Given the description of an element on the screen output the (x, y) to click on. 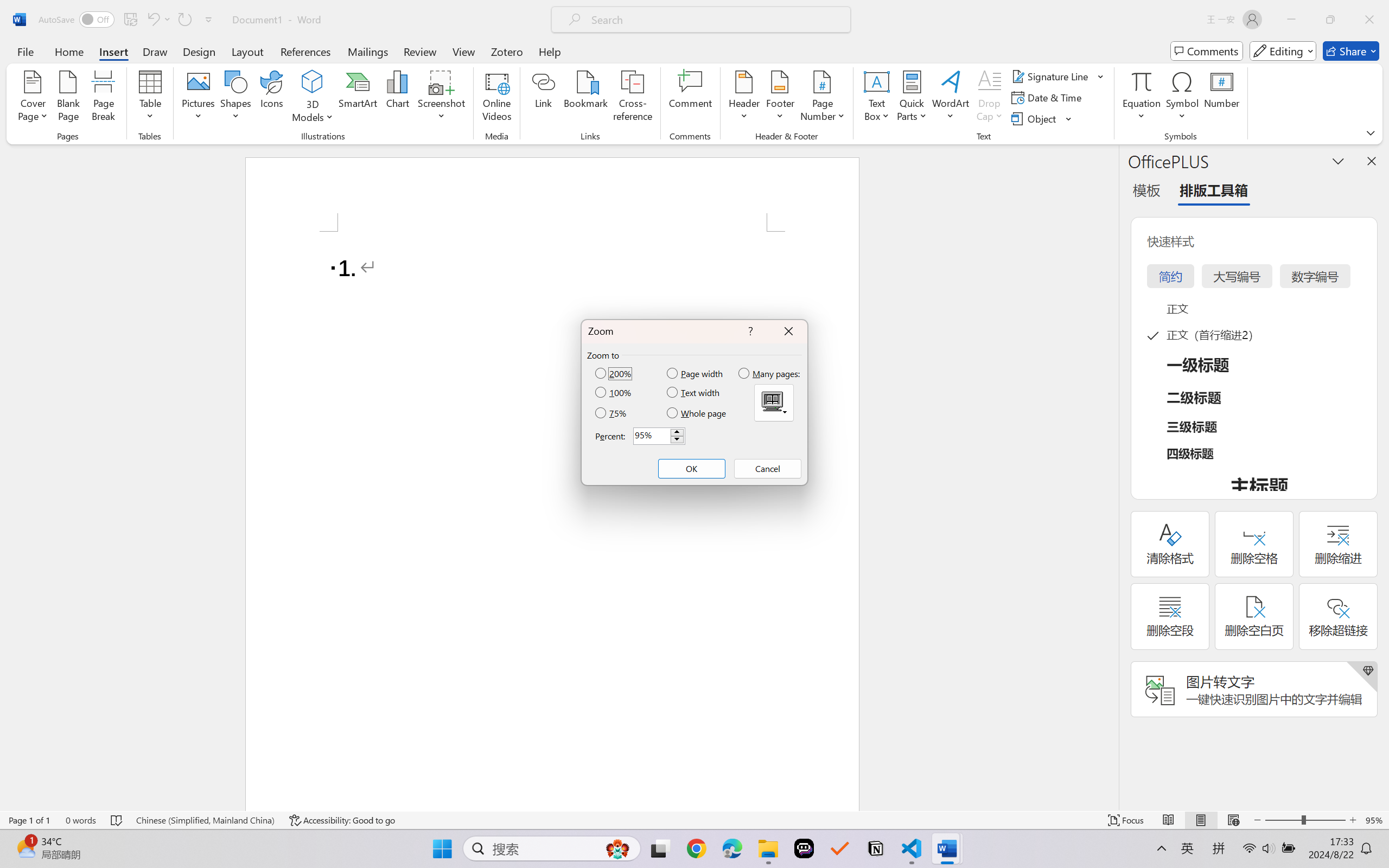
Signature Line (1058, 75)
Comment (689, 97)
